Given the description of an element on the screen output the (x, y) to click on. 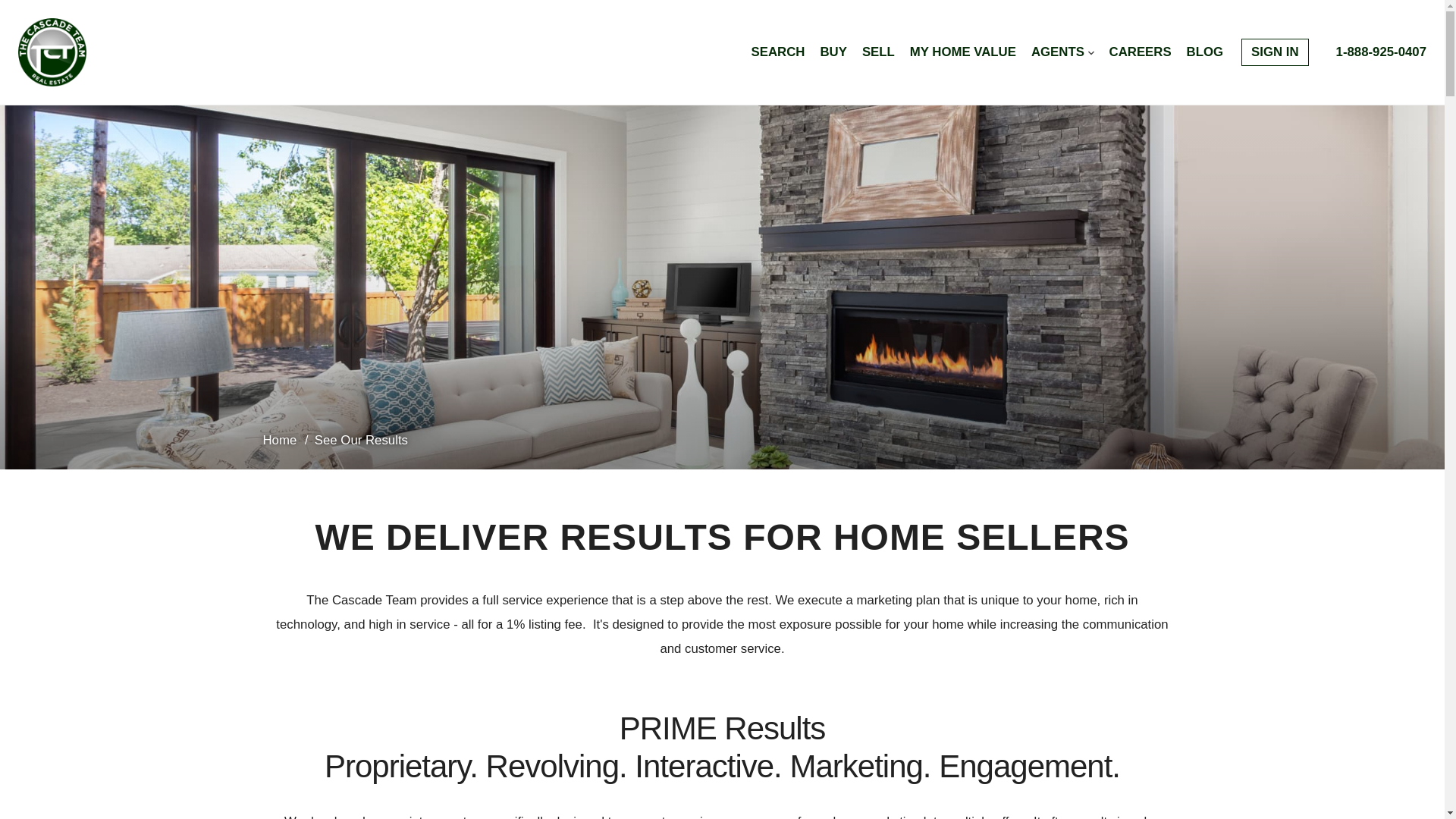
BUY (832, 51)
Home (280, 440)
See Our Results (360, 440)
SEARCH (778, 51)
SIGN IN (1274, 52)
AGENTS DROPDOWN ARROW (1062, 51)
SELL (878, 51)
CAREERS (1140, 51)
MY HOME VALUE (963, 51)
1-888-925-0407 (1381, 52)
